Given the description of an element on the screen output the (x, y) to click on. 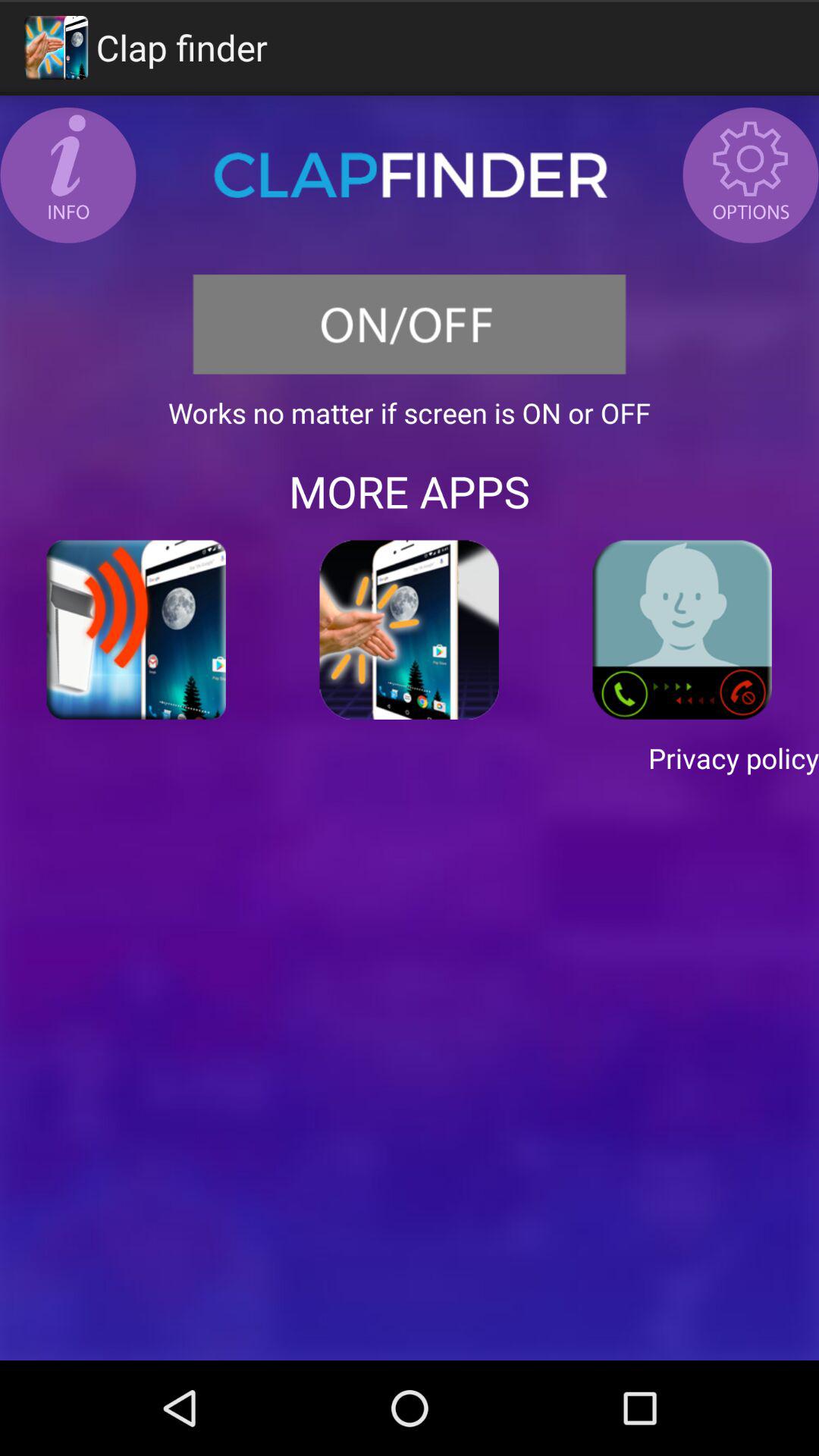
open options menu (750, 174)
